Given the description of an element on the screen output the (x, y) to click on. 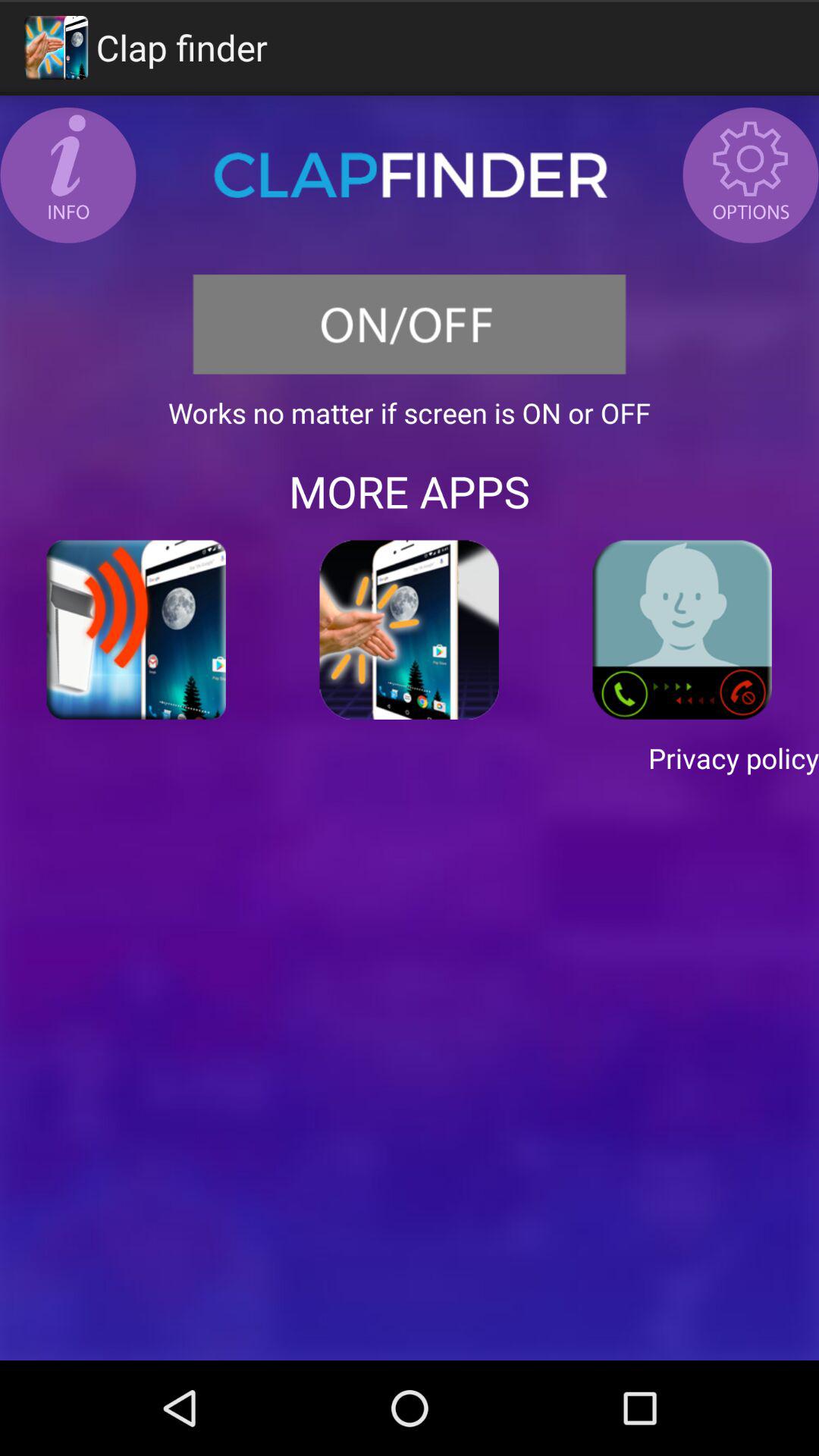
open options menu (750, 174)
